Given the description of an element on the screen output the (x, y) to click on. 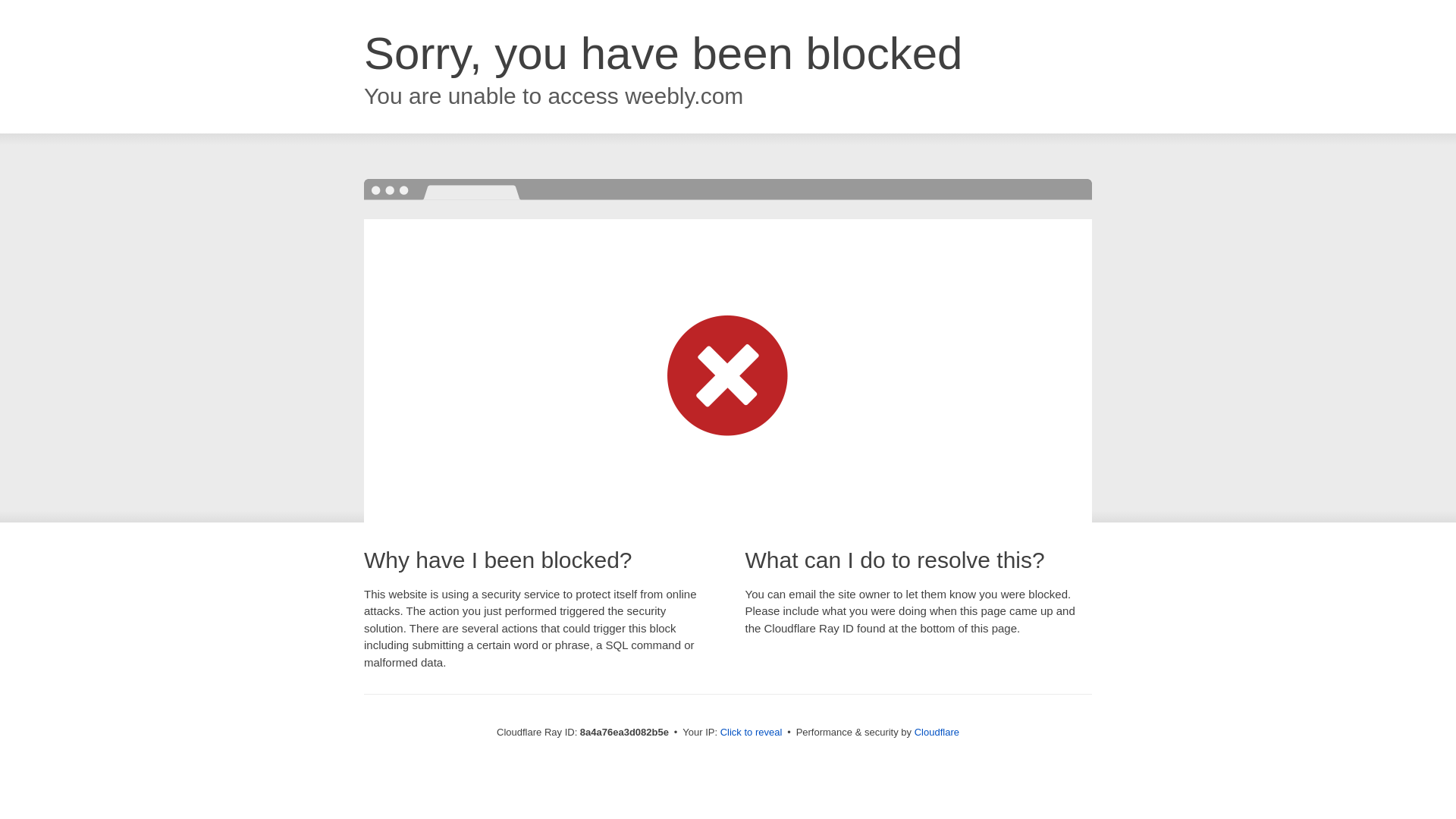
Click to reveal (751, 732)
Cloudflare (936, 731)
